Given the description of an element on the screen output the (x, y) to click on. 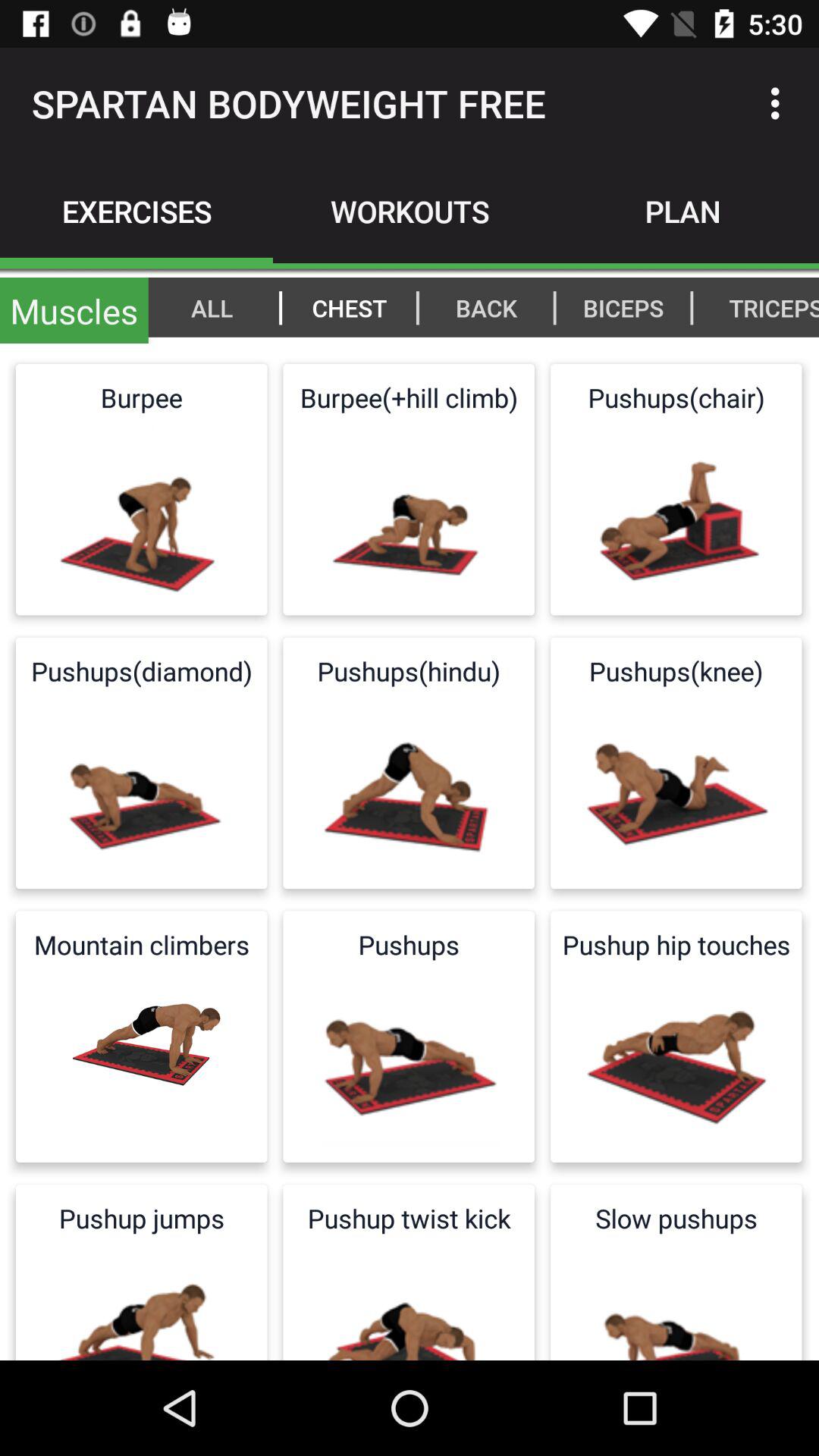
launch workouts app (409, 211)
